Given the description of an element on the screen output the (x, y) to click on. 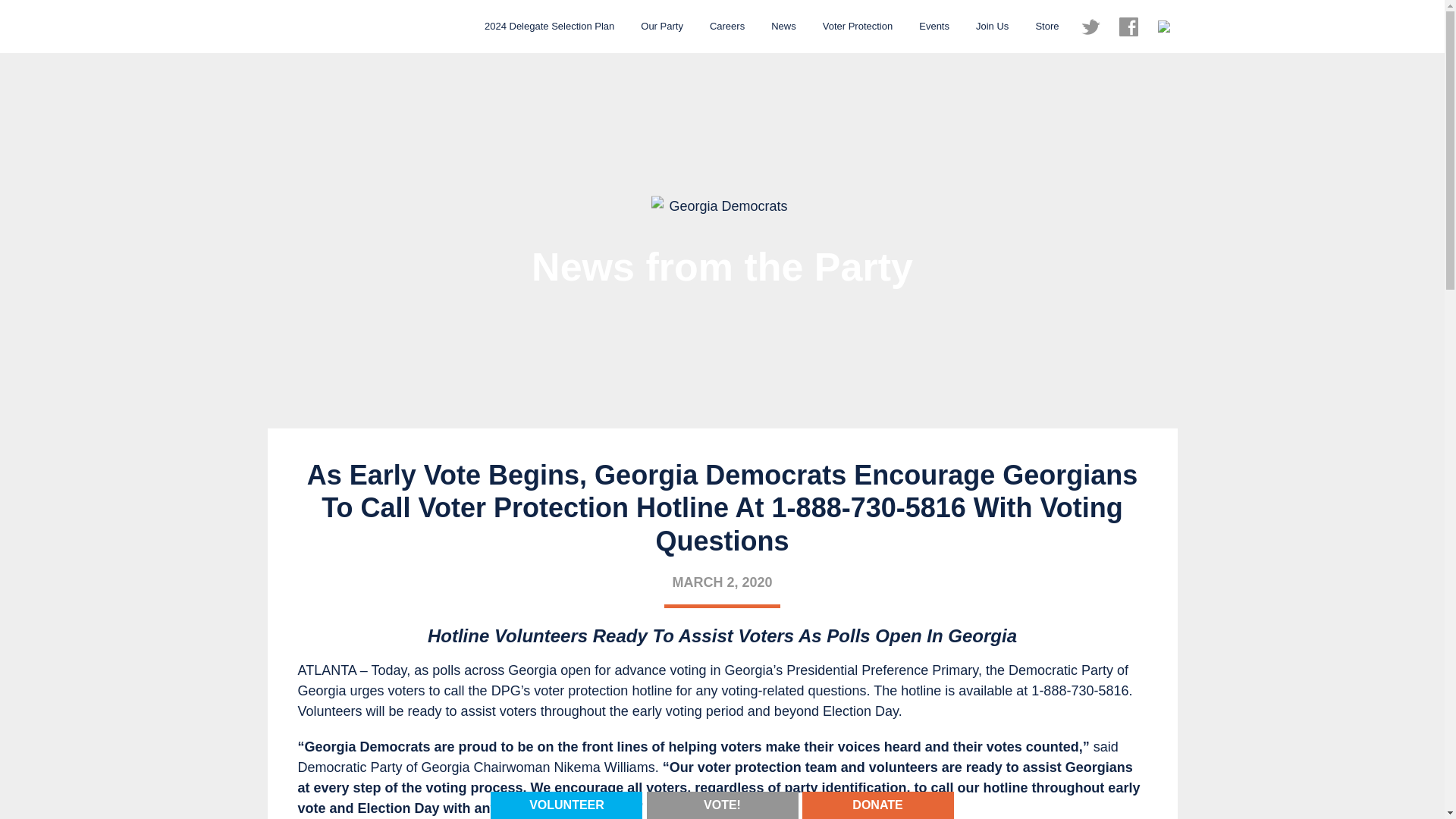
VOTE! (721, 804)
News (784, 25)
Careers (726, 25)
Join Us (991, 25)
Store (1046, 25)
VOLUNTEER (566, 805)
DONATE (877, 805)
DEMOCRATIC PARTY OF GEORGIA (342, 26)
Our Party (661, 25)
Events (933, 25)
